Given the description of an element on the screen output the (x, y) to click on. 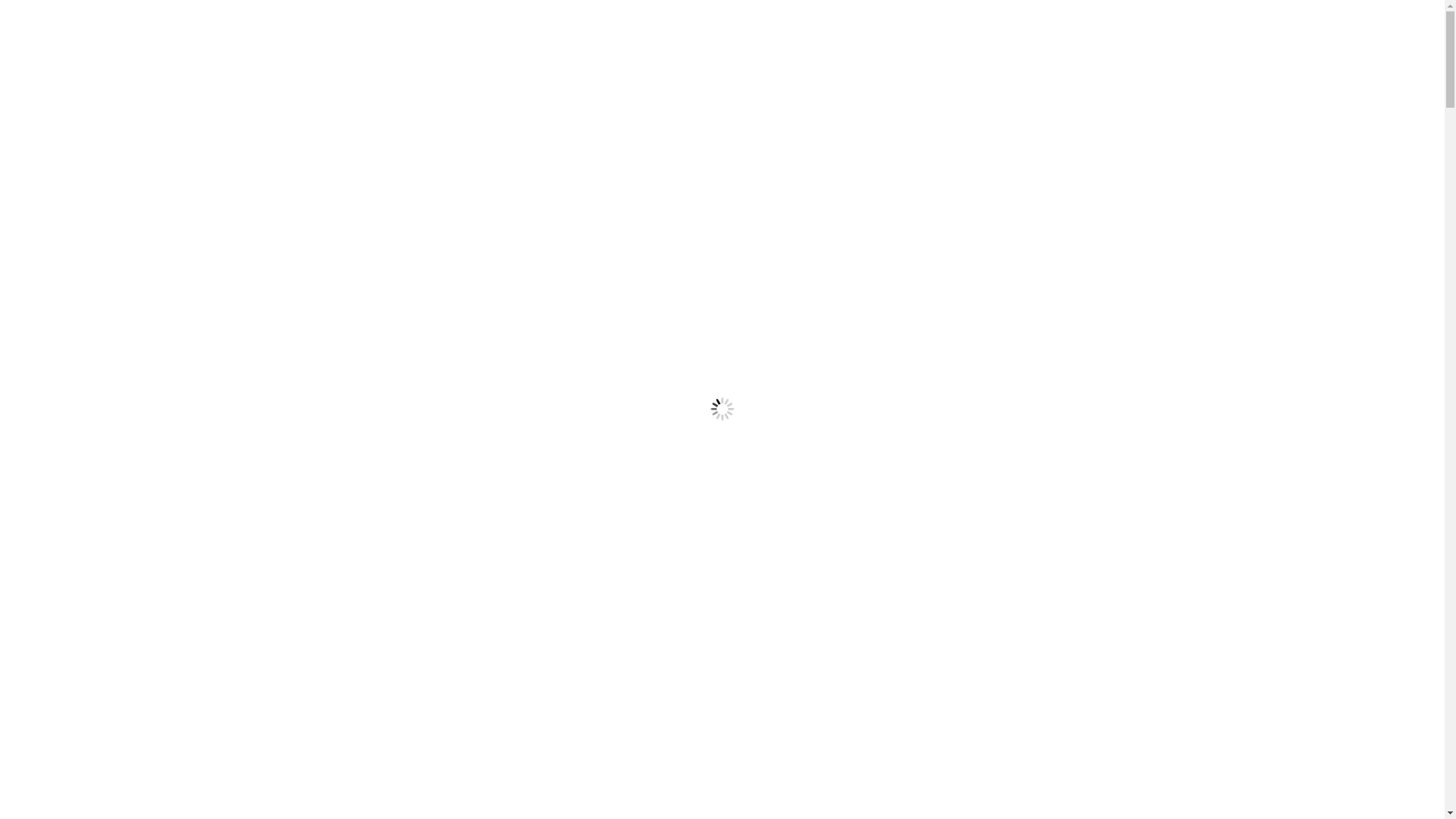
MOUNT IT LAPTOP STAND (TABLET AND LAPTOP) Element type: text (1156, 486)
Select Option Element type: text (478, 553)
$0.00
0 Element type: text (1217, 41)
MOUNT IT LAPTOP STAND (TABLET AND LAPTOP)
-30% Element type: text (1156, 340)
NEWS Element type: text (471, 104)
Created by potrace 1.16, written by Peter Selinger 2001-2019 Element type: text (1119, 41)
WATCH BAND NAPPA LEATHER FOR SERIES 1/2/3/SE/4/5/6/7 Element type: text (939, 340)
WATCH BAND NAPPA LEATHER FOR SERIES 1/2/3/SE/4/5/6/7 Element type: text (939, 486)
REPAIRS Element type: text (302, 104)
Add To Cart Element type: text (1124, 553)
DOUBLY WIRELESS CHARGER (2 IN 1)
-30% Element type: text (288, 340)
PRODUCTS Element type: text (221, 103)
Add To Cart Element type: text (256, 553)
Select Option Element type: text (912, 553)
FIND A STORE Element type: text (390, 104)
PATCHWORKS APPLE WATCH CASE 40 MM Element type: text (505, 486)
PATCHWORKS APPLE WATCH CASE 40 MM Element type: text (505, 340)
WATCH BAND EVEREST FOR SERIES 1/2/3/SE/4/5/6/7 Element type: text (722, 486)
Select Option Element type: text (695, 553)
WATCH BAND EVEREST FOR SERIES 1/2/3/SE/4/5/6/7 Element type: text (722, 340)
DOUBLY WIRELESS CHARGER (2 IN 1) Element type: text (288, 486)
